Given the description of an element on the screen output the (x, y) to click on. 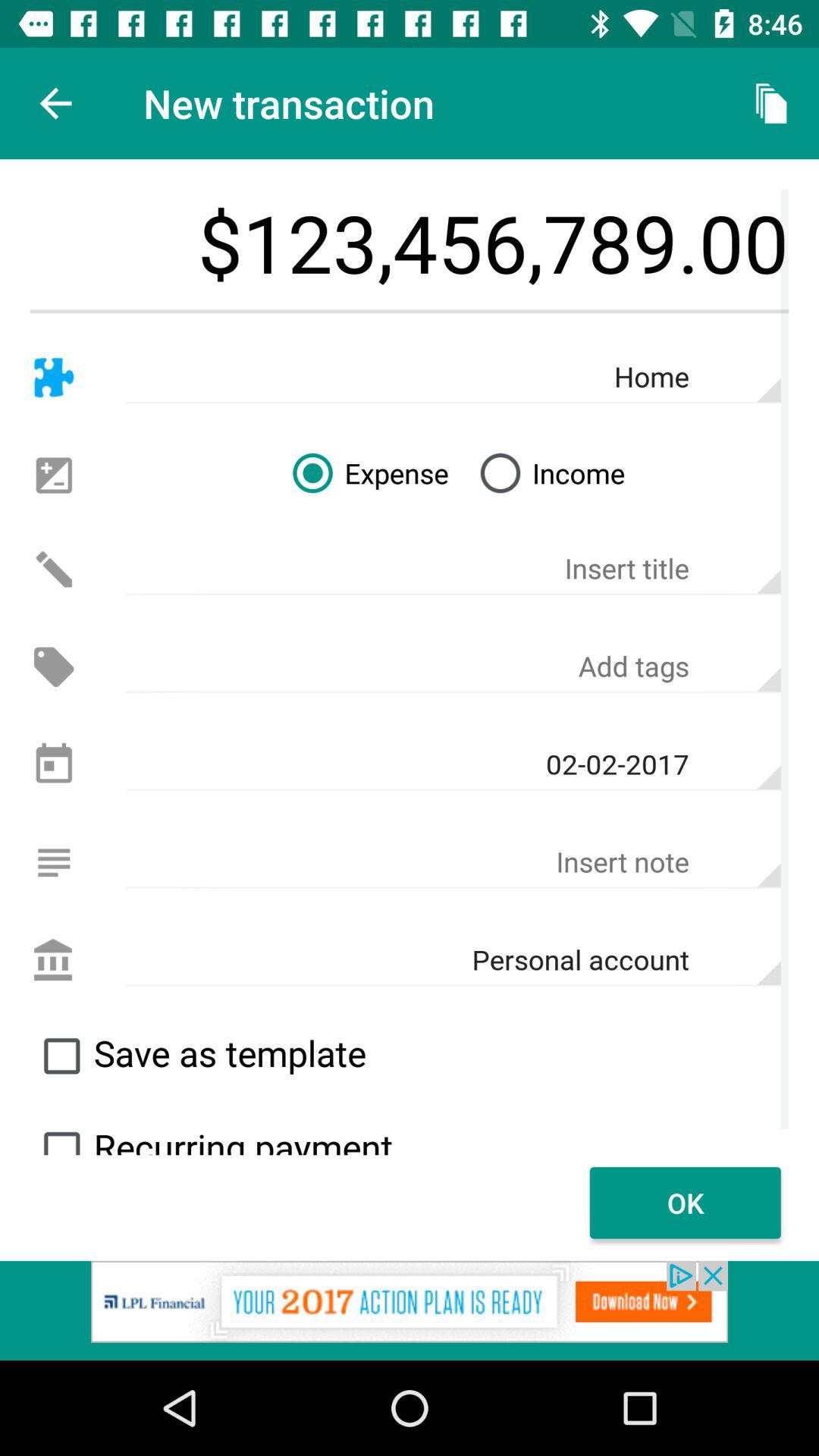
check (61, 1136)
